Given the description of an element on the screen output the (x, y) to click on. 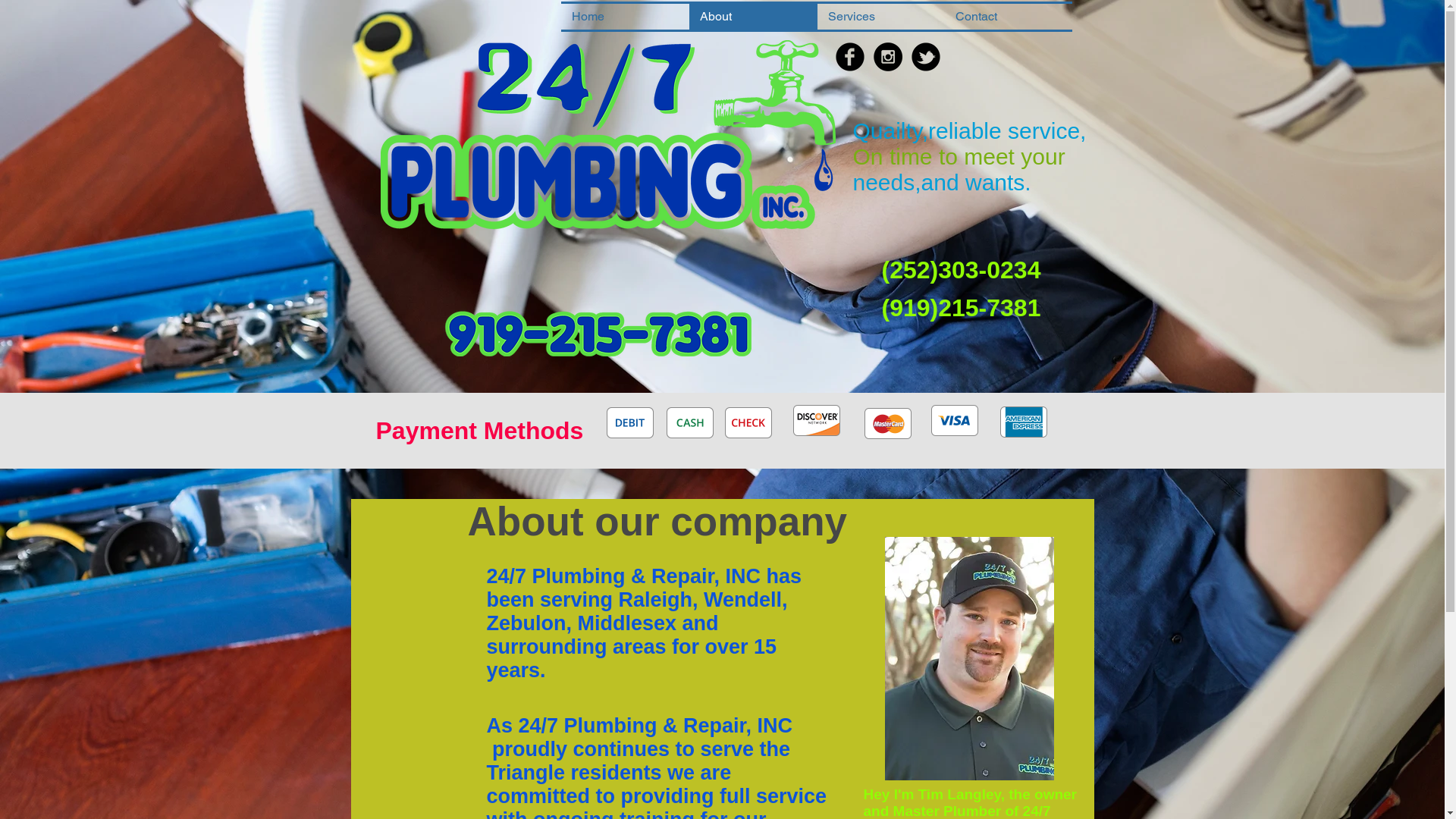
Services Element type: text (880, 16)
Home Element type: text (625, 16)
About Element type: text (752, 16)
Contact Element type: text (1008, 16)
